Given the description of an element on the screen output the (x, y) to click on. 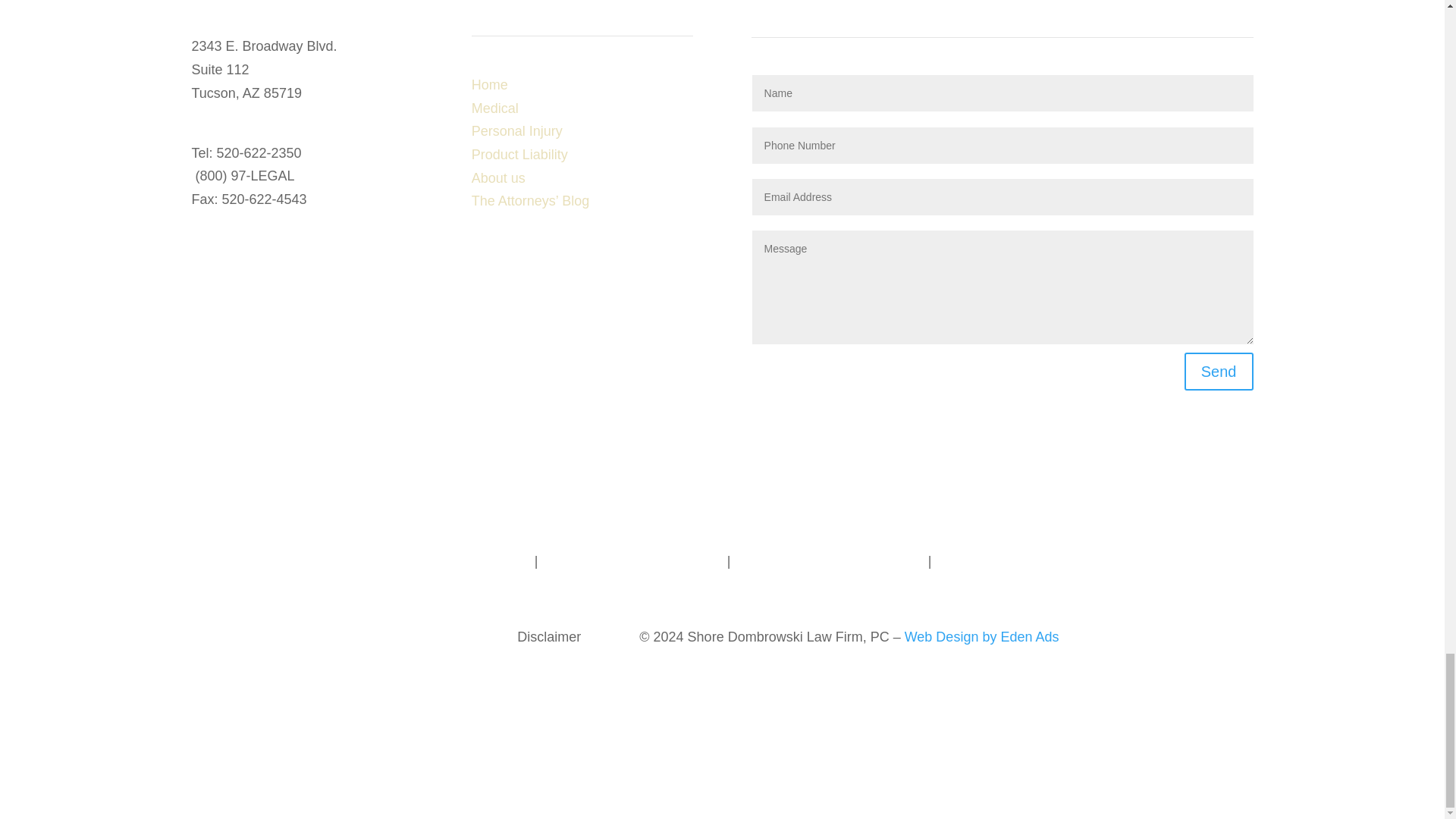
Send (1219, 371)
Home (489, 84)
Personal Injury (516, 130)
Tucson Personal Injury Attorneys (432, 560)
Product Liability (519, 154)
Follow on LinkedIn (202, 252)
About us (498, 177)
Medical (494, 108)
